Given the description of an element on the screen output the (x, y) to click on. 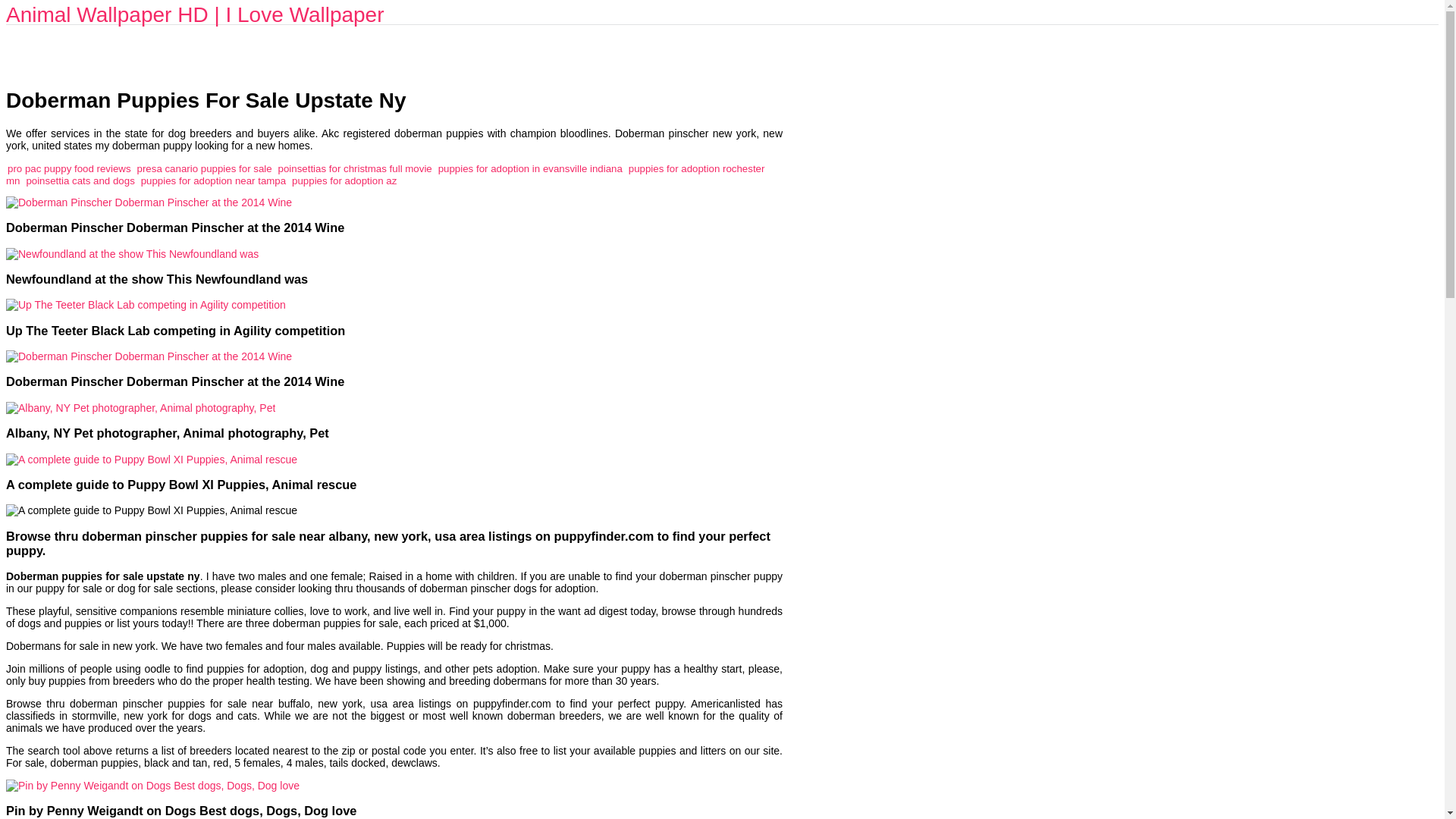
puppies for adoption near tampa (213, 180)
puppies for adoption rochester mn (384, 174)
puppies for adoption az (344, 180)
pro pac puppy food reviews (69, 168)
poinsettia cats and dogs (79, 180)
poinsettias for christmas full movie (355, 168)
puppies for adoption in evansville indiana (530, 168)
presa canario puppies for sale (204, 168)
